Given the description of an element on the screen output the (x, y) to click on. 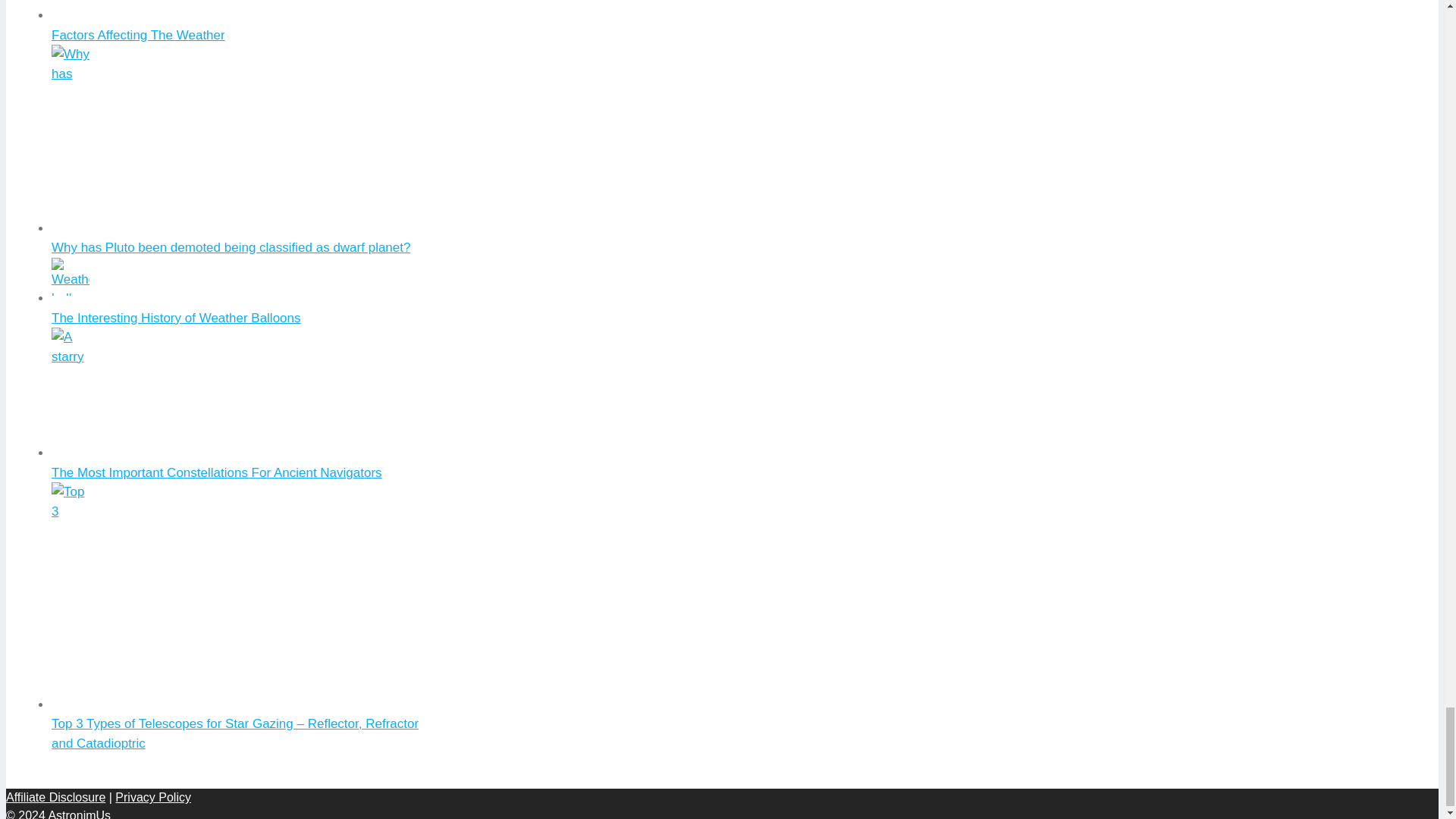
Privacy Policy (152, 797)
Affiliate Disclosure (54, 797)
The Interesting History of Weather Balloons (175, 318)
Why has Pluto been demoted being classified as dwarf planet? (230, 247)
Factors Affecting The Weather (137, 34)
The Most Important Constellations For Ancient Navigators (215, 472)
